Given the description of an element on the screen output the (x, y) to click on. 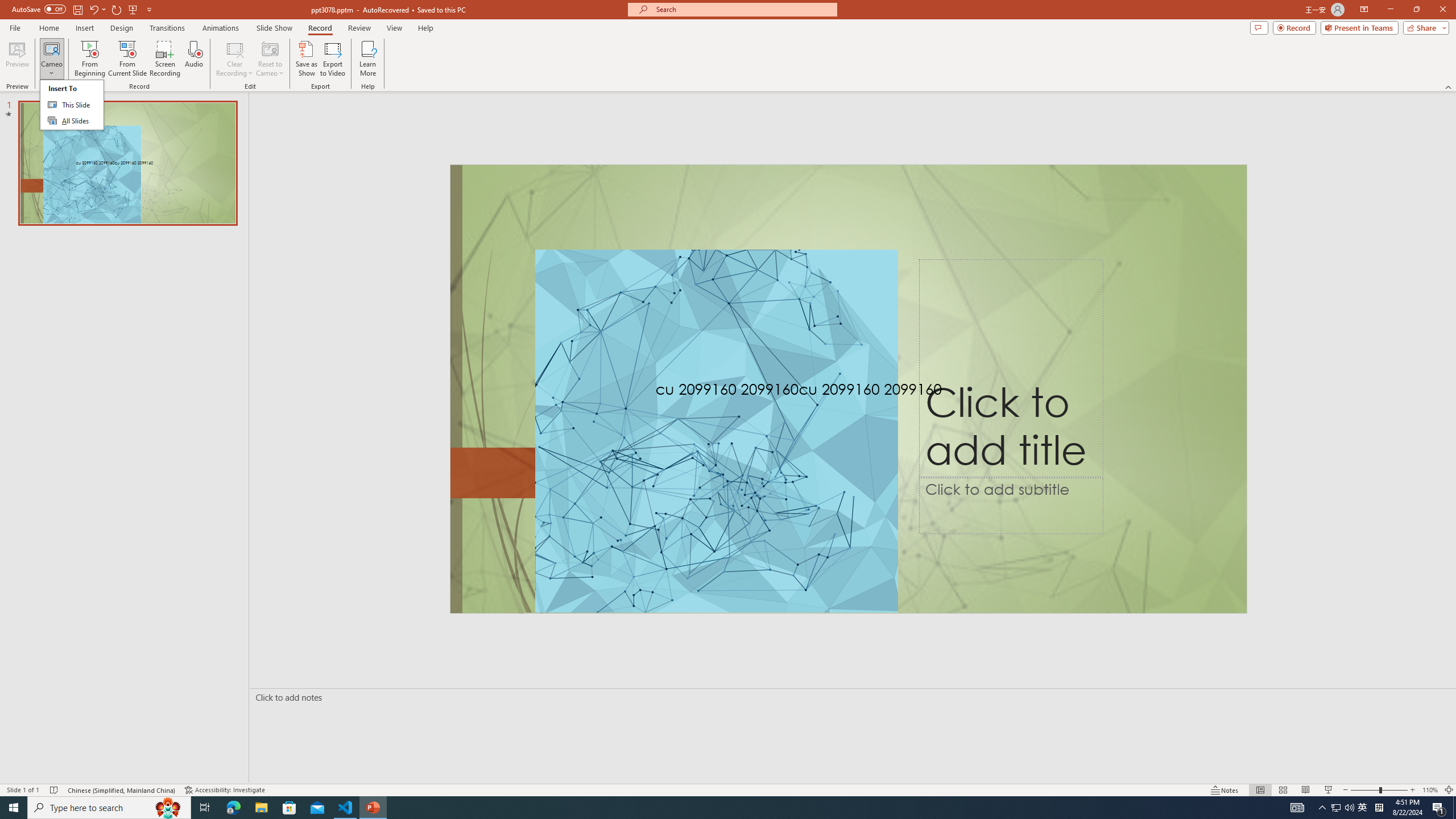
AutomationID: 4105 (1297, 807)
Reading View (1305, 790)
From Current Slide... (127, 58)
Q2790: 100% (1349, 807)
Slide Show (1328, 790)
Notification Chevron (1322, 807)
Clear Recording (234, 58)
&Cameo (71, 104)
Zoom Out (1364, 790)
Help (425, 28)
Class: MsoCommandBar (728, 789)
Start (13, 807)
Redo (117, 9)
